Given the description of an element on the screen output the (x, y) to click on. 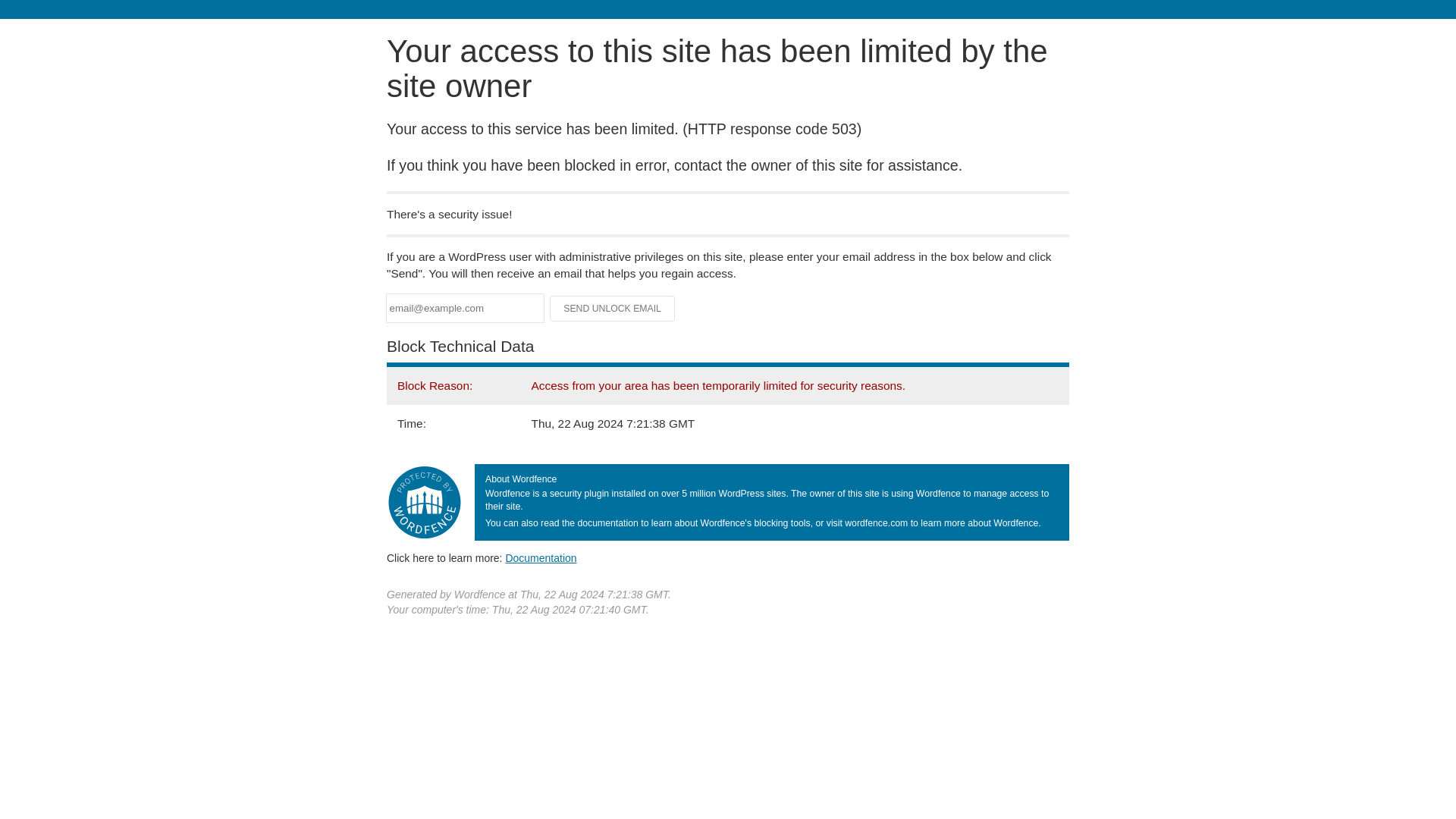
Documentation (540, 558)
Send Unlock Email (612, 308)
Send Unlock Email (612, 308)
